Given the description of an element on the screen output the (x, y) to click on. 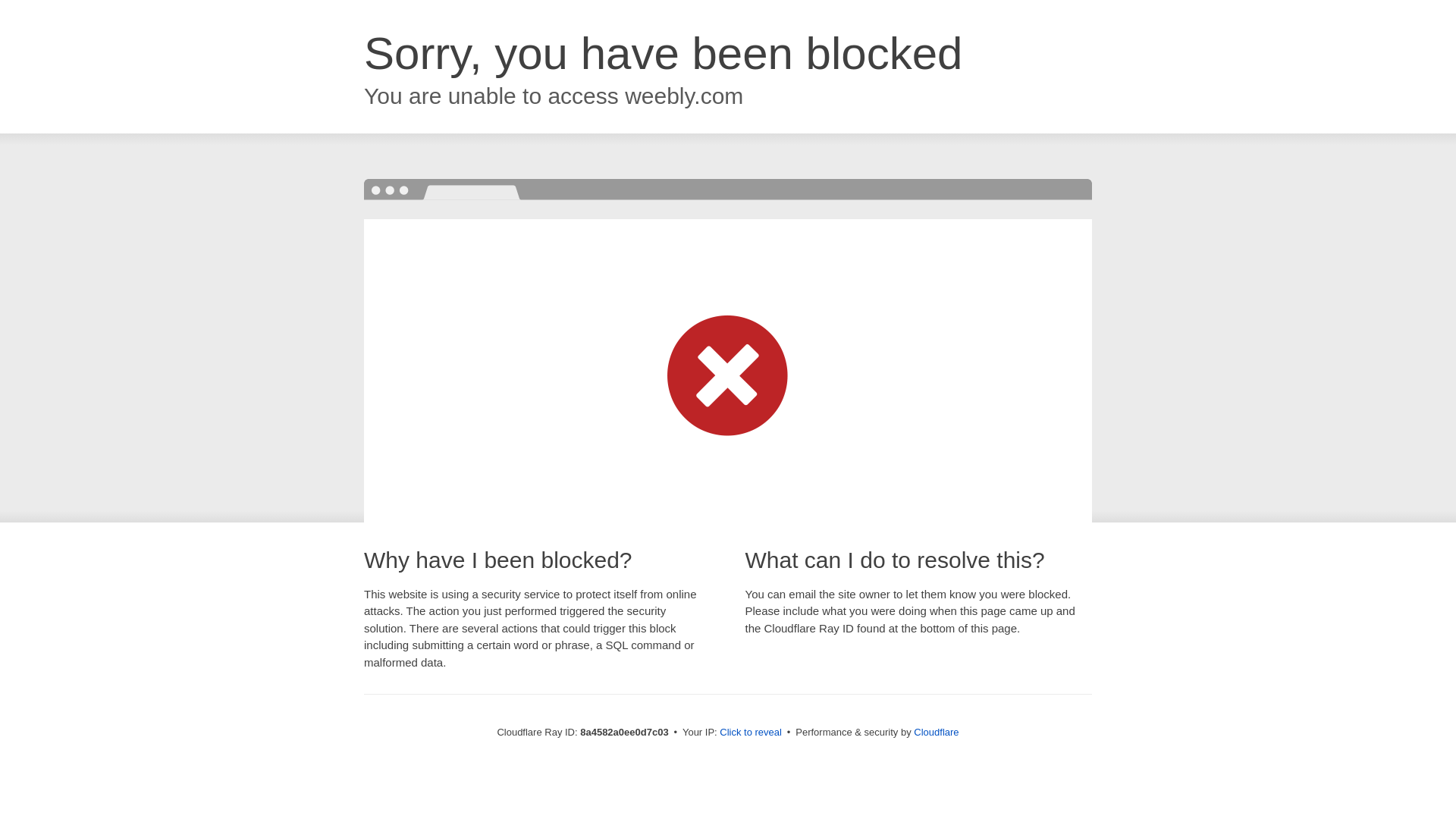
Cloudflare (936, 731)
Click to reveal (750, 732)
